Given the description of an element on the screen output the (x, y) to click on. 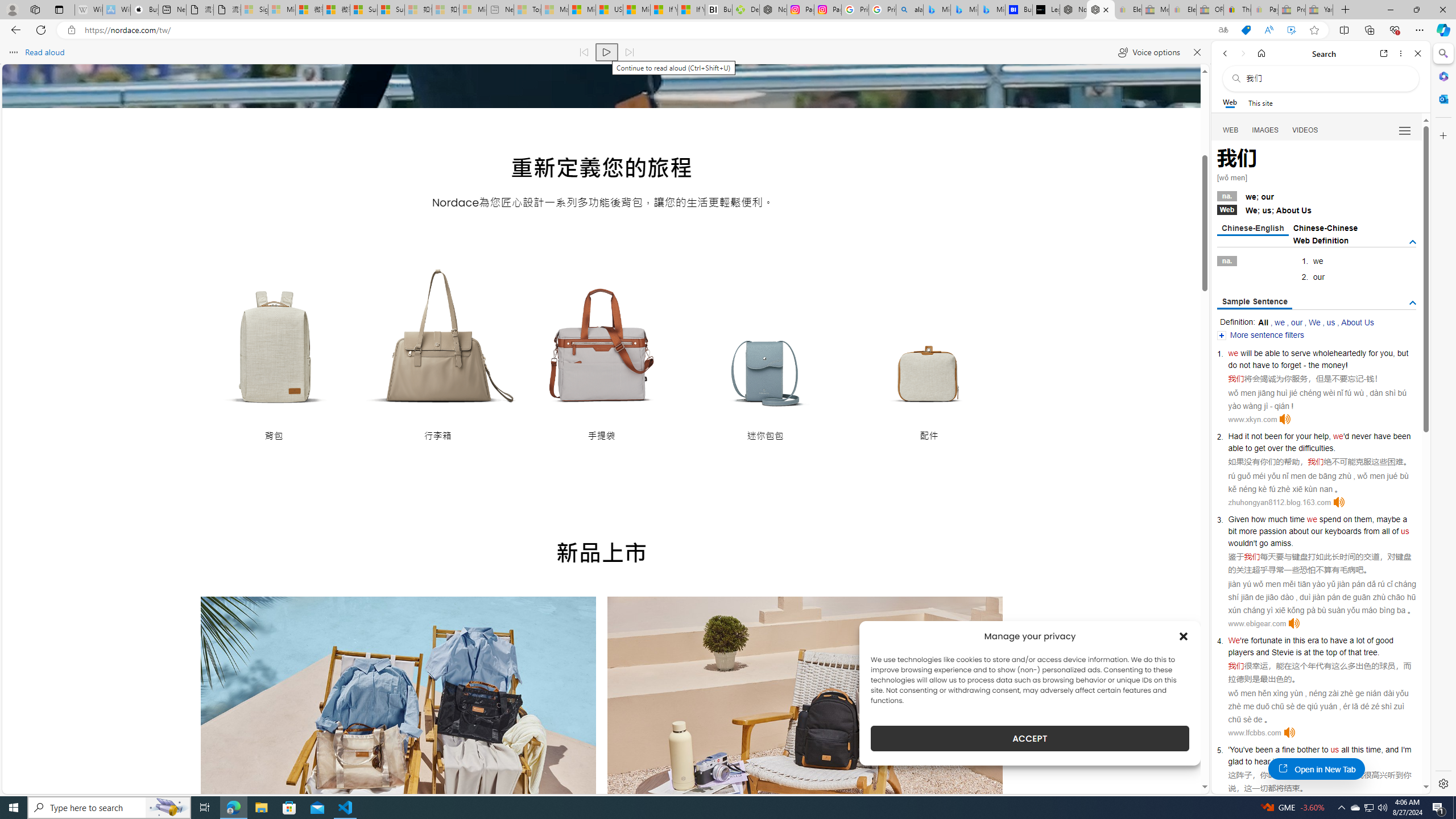
Read previous paragraph (583, 52)
Show translate options (1222, 29)
WebWe; us; About Us (1316, 209)
Top Stories - MSN - Sleeping (527, 9)
www.xkyn.com (1251, 419)
